Given the description of an element on the screen output the (x, y) to click on. 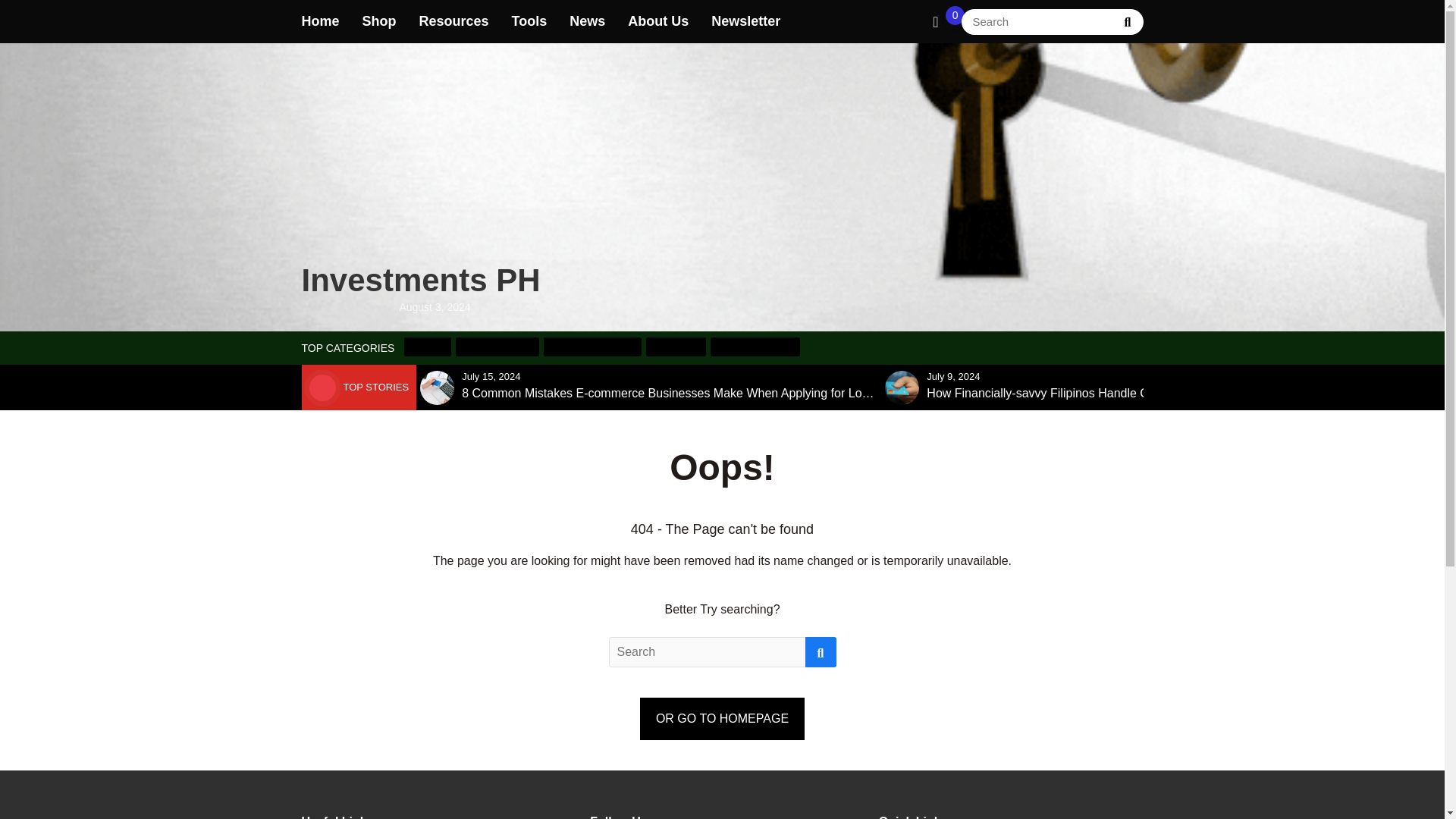
July 9, 2024 (952, 376)
How Financially-savvy Filipinos Handle Credit Card Myths (1081, 393)
Business Updates (592, 346)
Shop (379, 20)
Tools (529, 20)
Breaking News (496, 346)
Financial Advice (754, 346)
About Us (657, 20)
Investments PH (420, 177)
Newsletter (745, 20)
Calculator (676, 346)
July 15, 2024 (490, 376)
Articles (427, 346)
Home (320, 20)
